Given the description of an element on the screen output the (x, y) to click on. 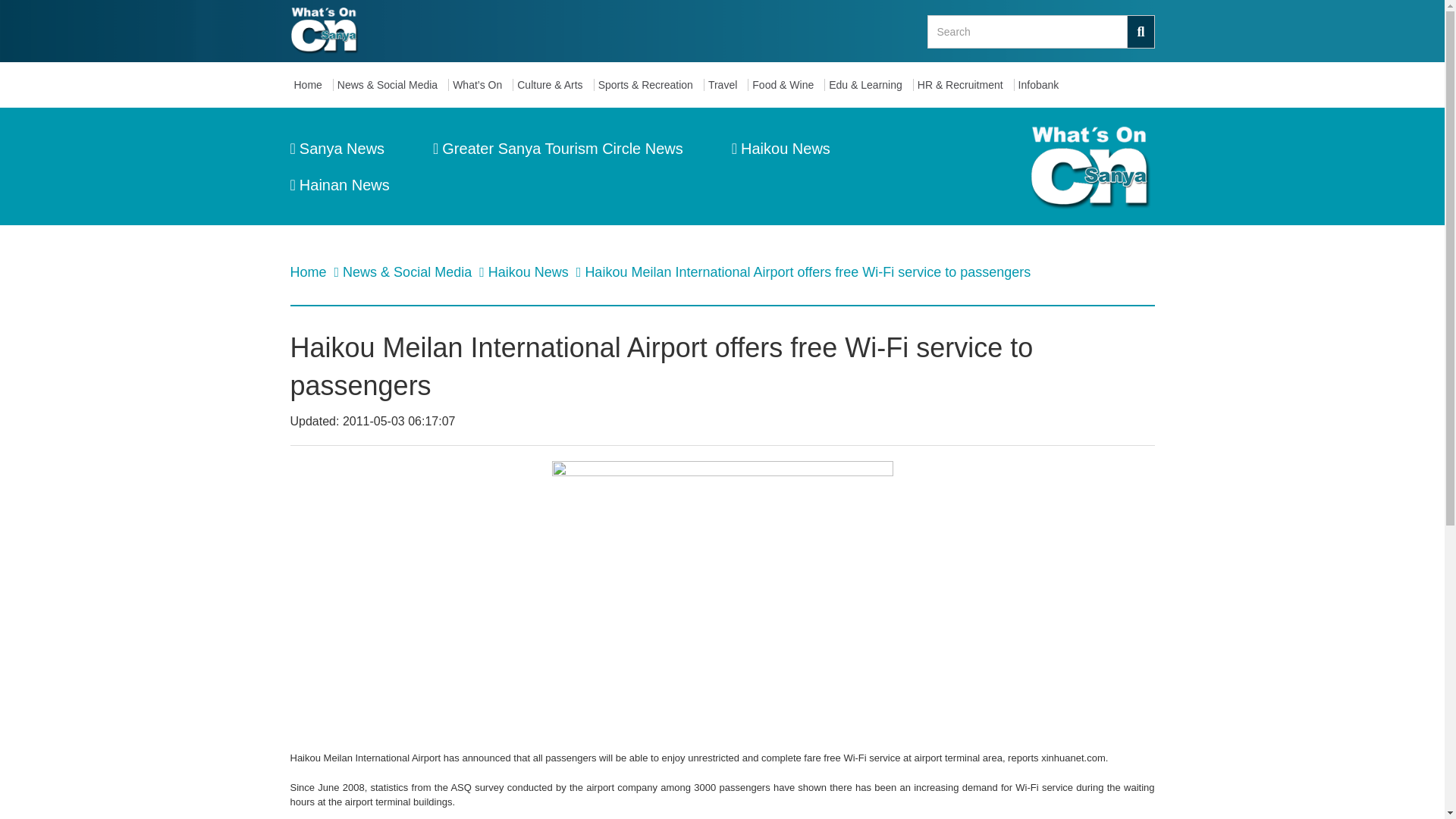
Home (311, 84)
Greater Sanya Tourism Circle News (557, 148)
Haikou News (529, 272)
Hainan News (338, 184)
Sanya News (336, 148)
Infobank (1042, 84)
Travel (726, 84)
Haikou News (780, 148)
Home (309, 272)
